Given the description of an element on the screen output the (x, y) to click on. 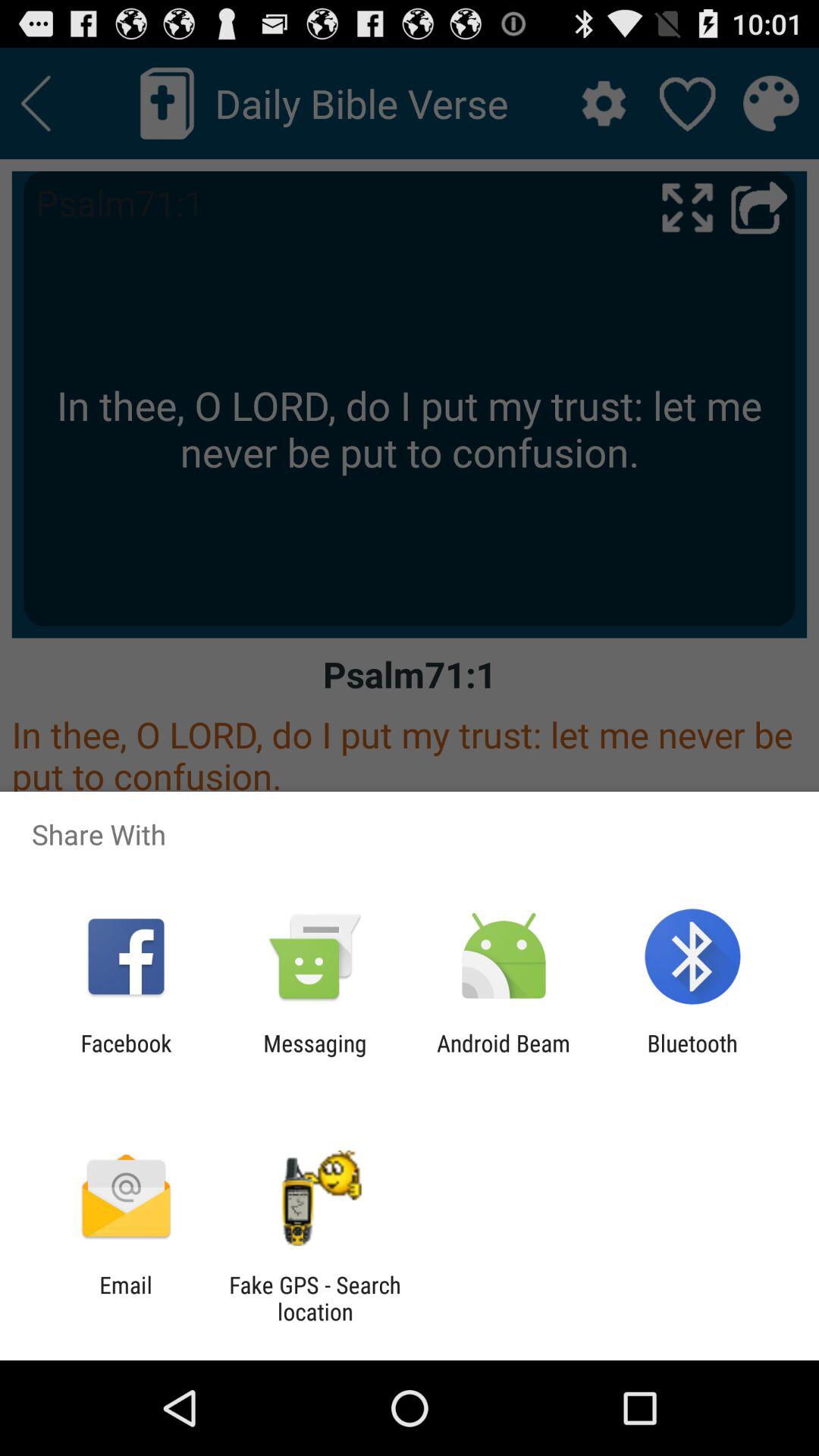
open the item next to messaging icon (503, 1056)
